Given the description of an element on the screen output the (x, y) to click on. 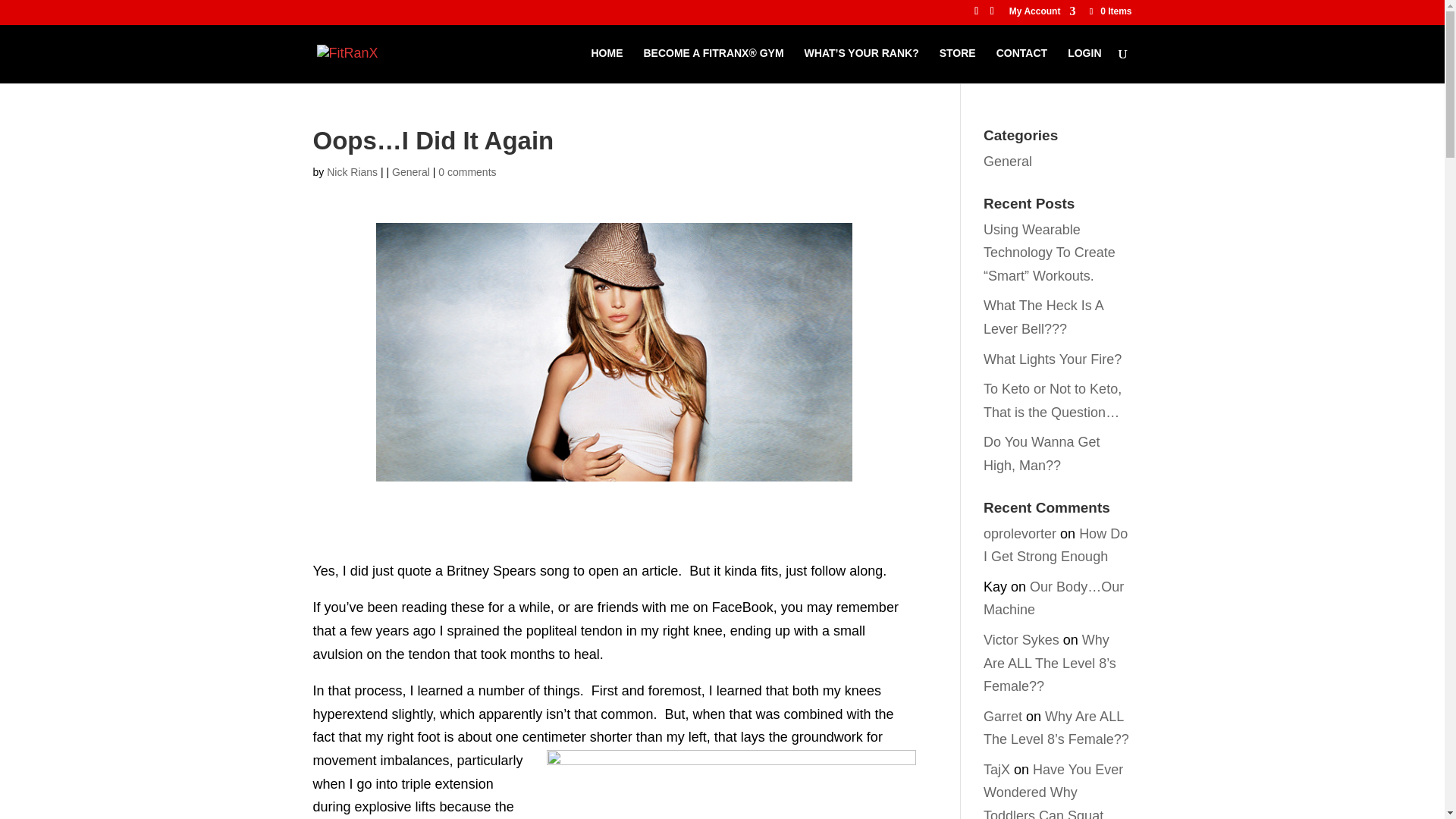
Have You Ever Wondered Why Toddlers Can Squat Perfectly? (1053, 790)
STORE (957, 65)
0 comments (467, 172)
oprolevorter (1020, 533)
HOME (607, 65)
Do You Wanna Get High, Man?? (1041, 453)
CONTACT (1020, 65)
General (1008, 160)
Nick Rians (351, 172)
TajX (997, 769)
